Given the description of an element on the screen output the (x, y) to click on. 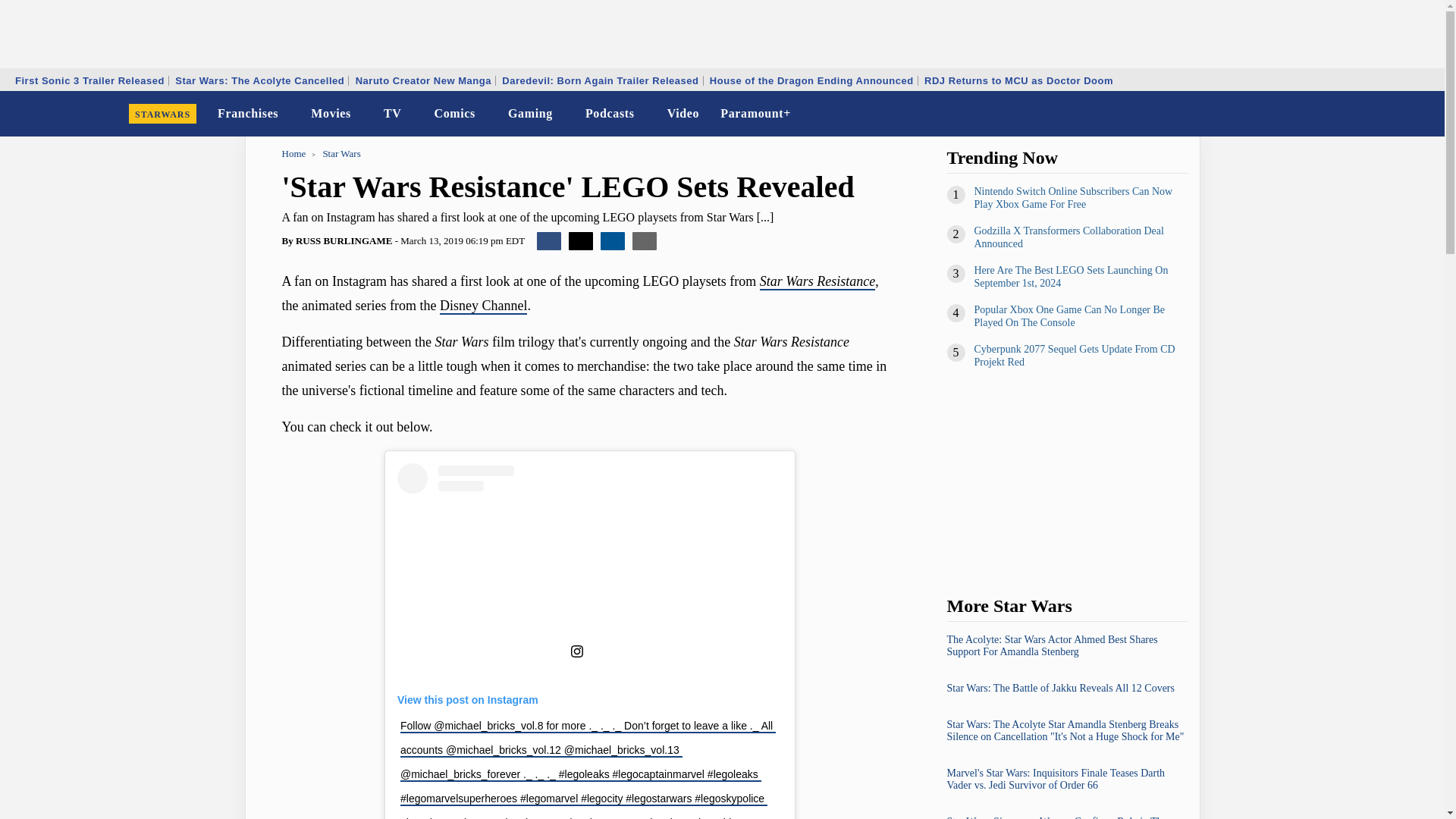
RDJ Returns to MCU as Doctor Doom (1018, 80)
STARWARS (162, 113)
Naruto Creator New Manga (423, 80)
Dark Mode (1394, 113)
House of the Dragon Ending Announced (811, 80)
Daredevil: Born Again Trailer Released (599, 80)
Movies (330, 113)
Star Wars: The Acolyte Cancelled (259, 80)
Comics (454, 113)
Search (1422, 114)
